Given the description of an element on the screen output the (x, y) to click on. 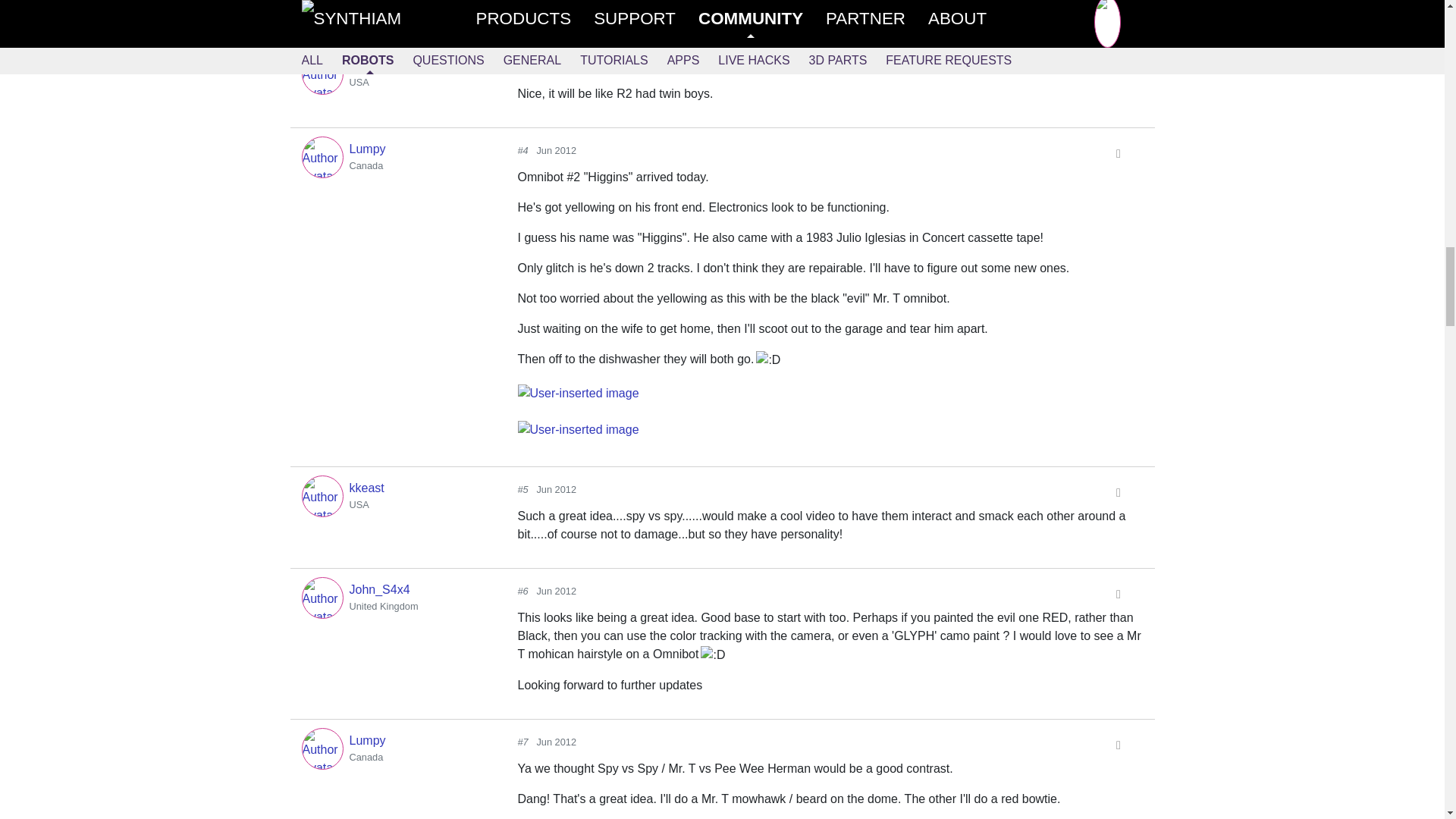
2012-06-05 20:07 UTC (555, 150)
2012-06-05 06:13 UTC (555, 66)
2012-06-05 21:58 UTC (555, 741)
2012-06-05 21:18 UTC (555, 591)
2012-06-05 20:12 UTC (555, 489)
